Given the description of an element on the screen output the (x, y) to click on. 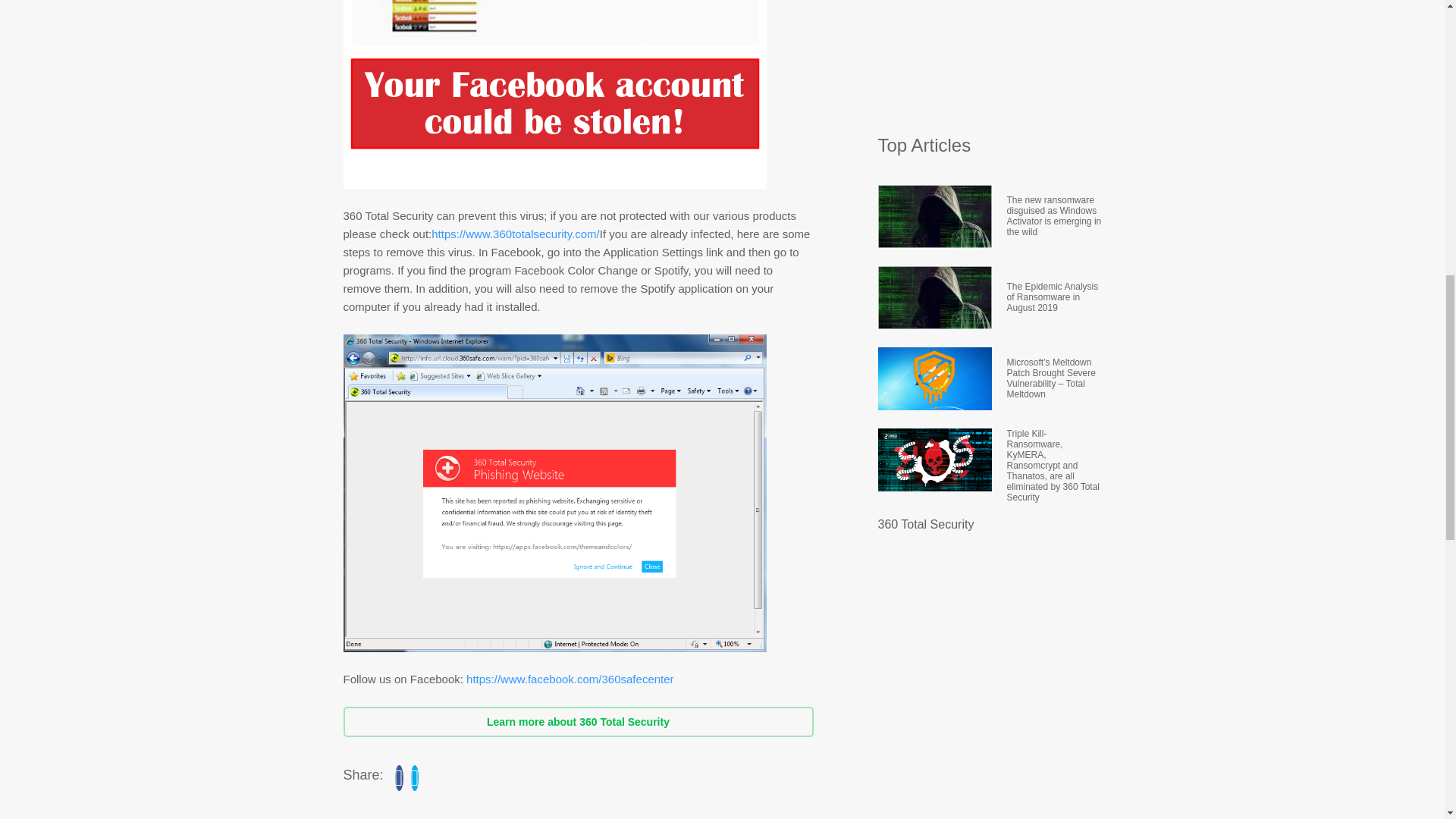
Learn more about 360 Total Security (577, 721)
The Epidemic Analysis of Ransomware in August 2019 (1054, 296)
The Epidemic Analysis of Ransomware in August 2019 (1054, 296)
360 Total Security (925, 522)
Learn more about 360 Total Security (577, 721)
Advertisement (991, 58)
